Given the description of an element on the screen output the (x, y) to click on. 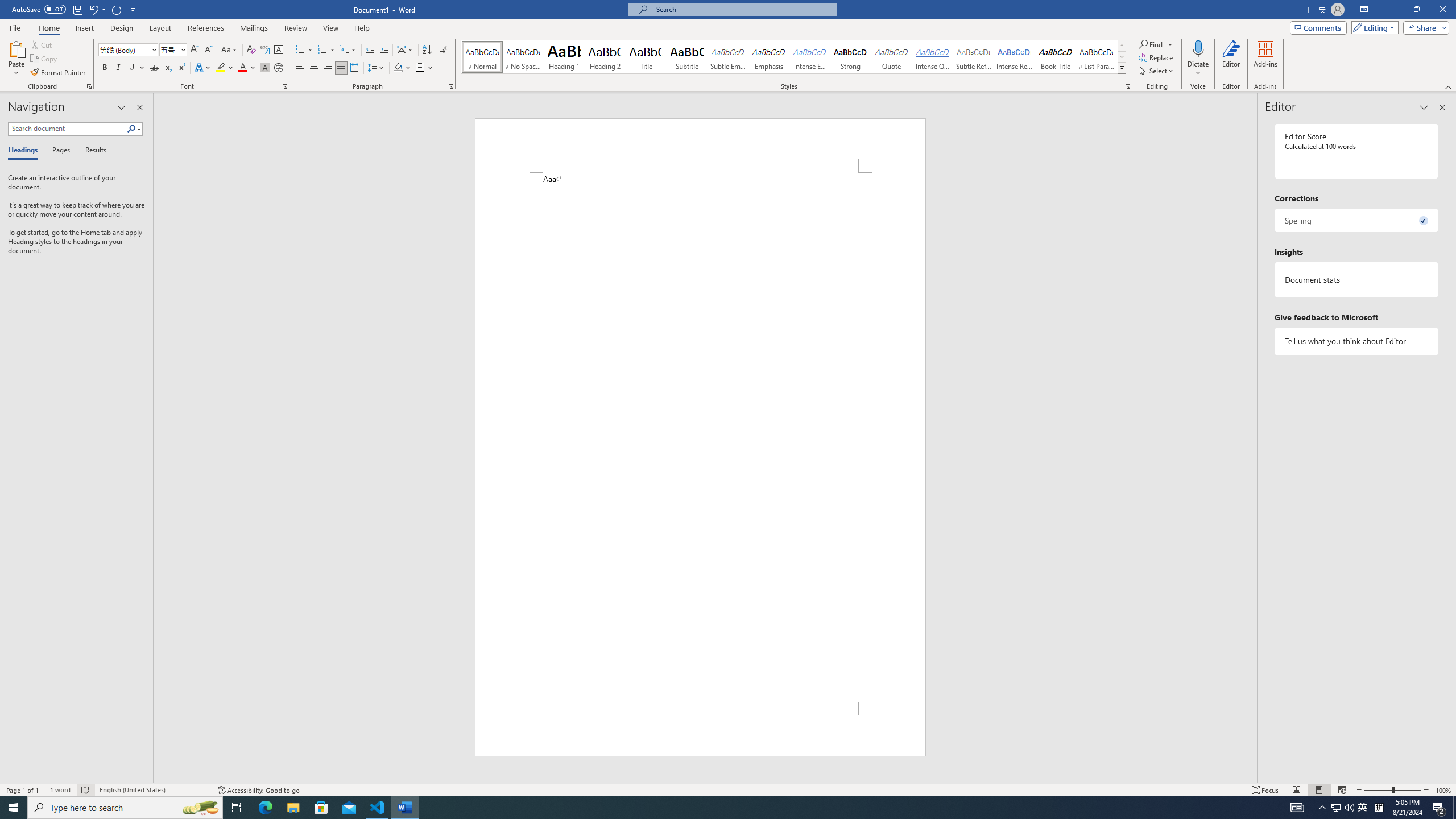
Subtle Reference (973, 56)
Undo AutoCorrect (96, 9)
Font Color Red (241, 67)
Quote (891, 56)
Heading 2 (605, 56)
